Given the description of an element on the screen output the (x, y) to click on. 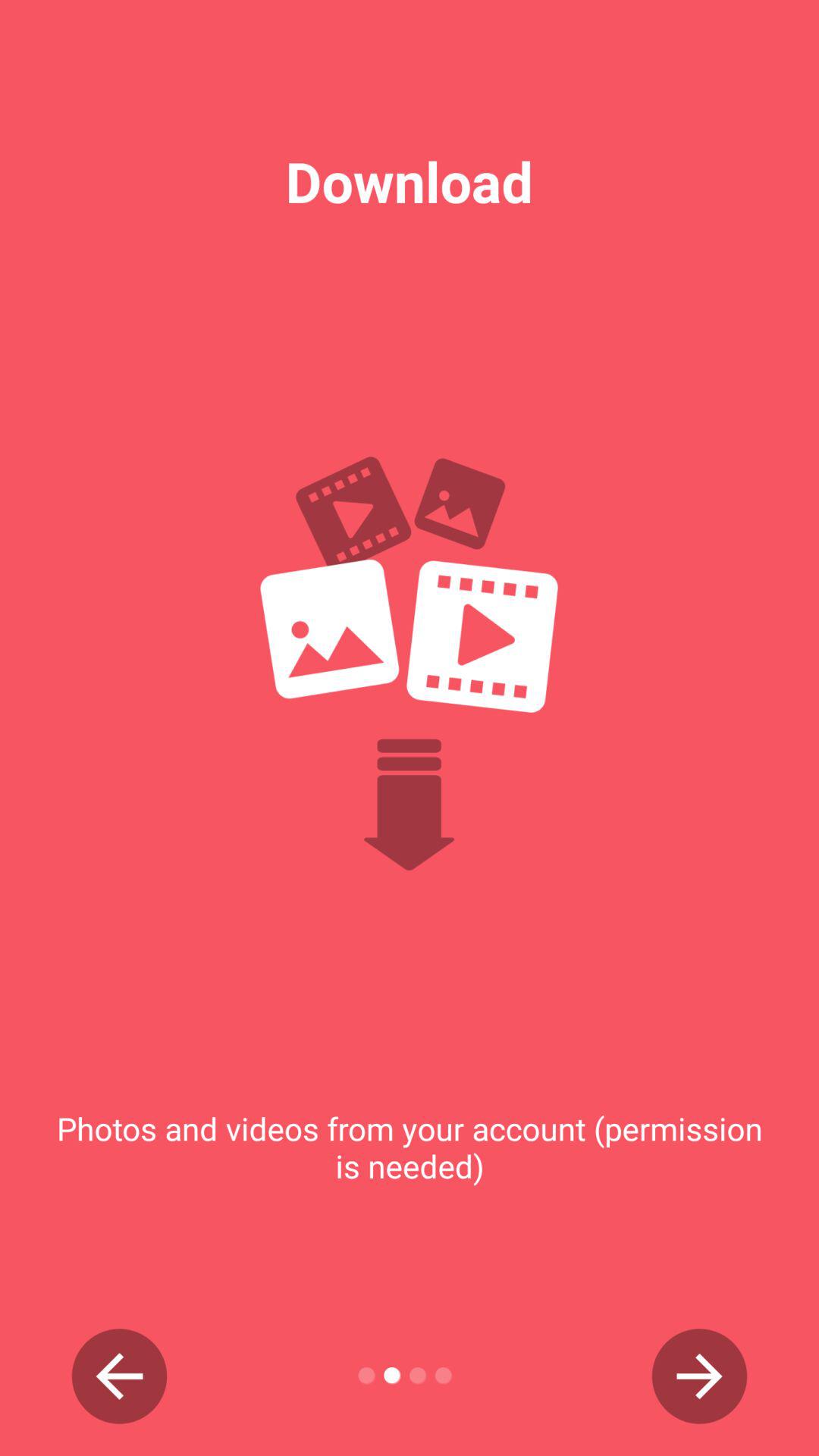
select item at the bottom left corner (119, 1376)
